Given the description of an element on the screen output the (x, y) to click on. 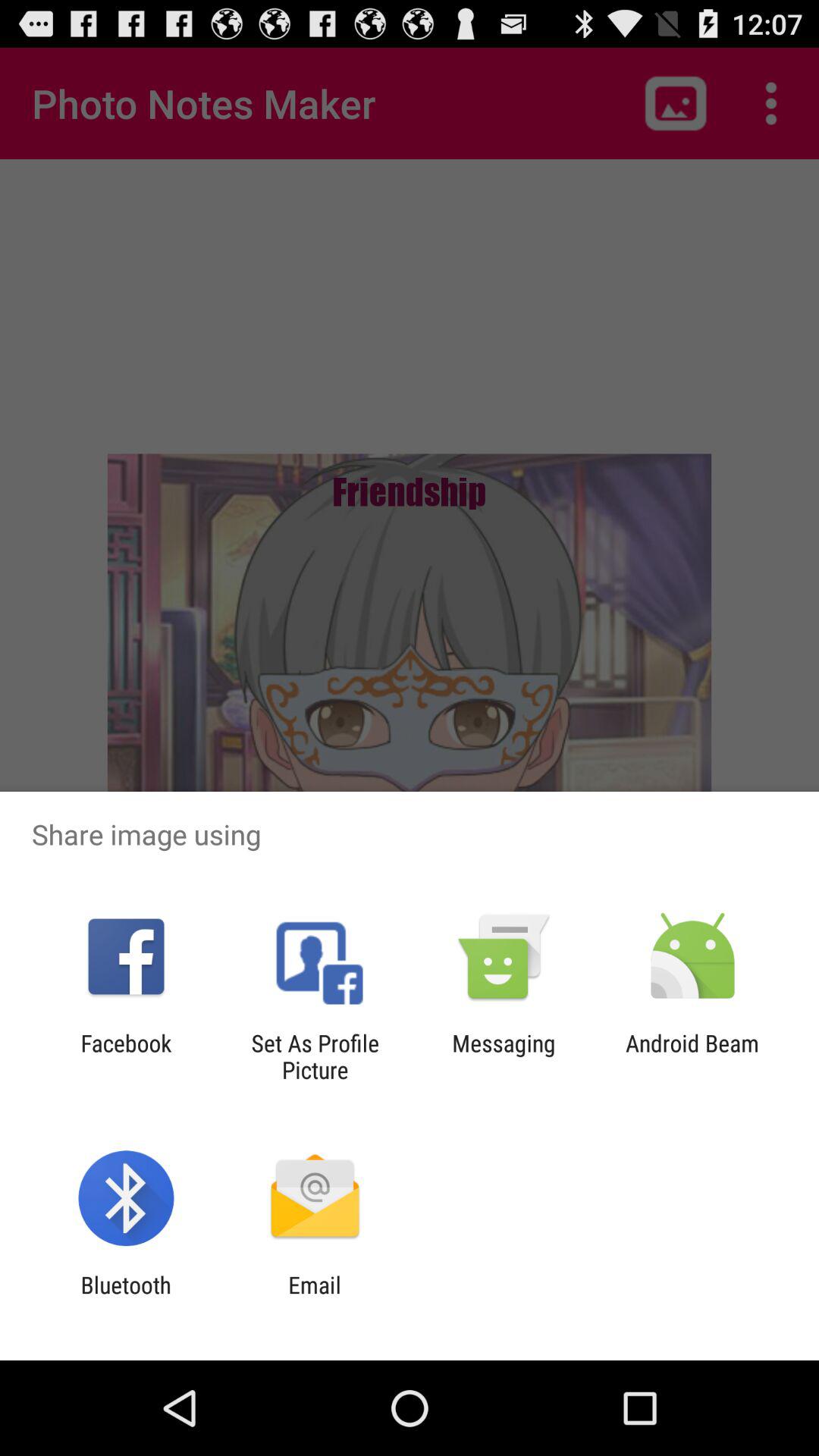
press the facebook app (125, 1056)
